Given the description of an element on the screen output the (x, y) to click on. 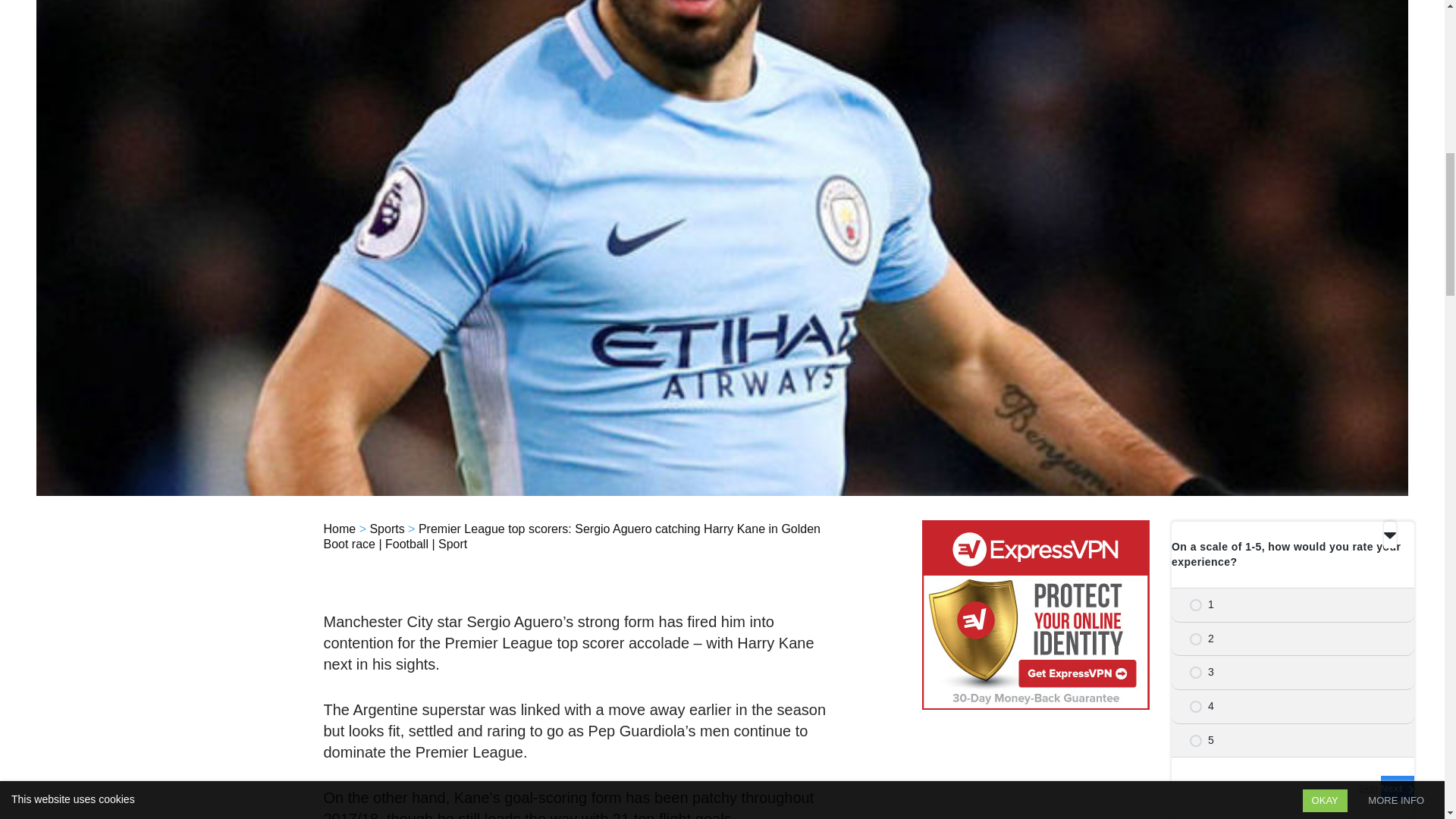
Sports (386, 528)
Home (339, 528)
